Given the description of an element on the screen output the (x, y) to click on. 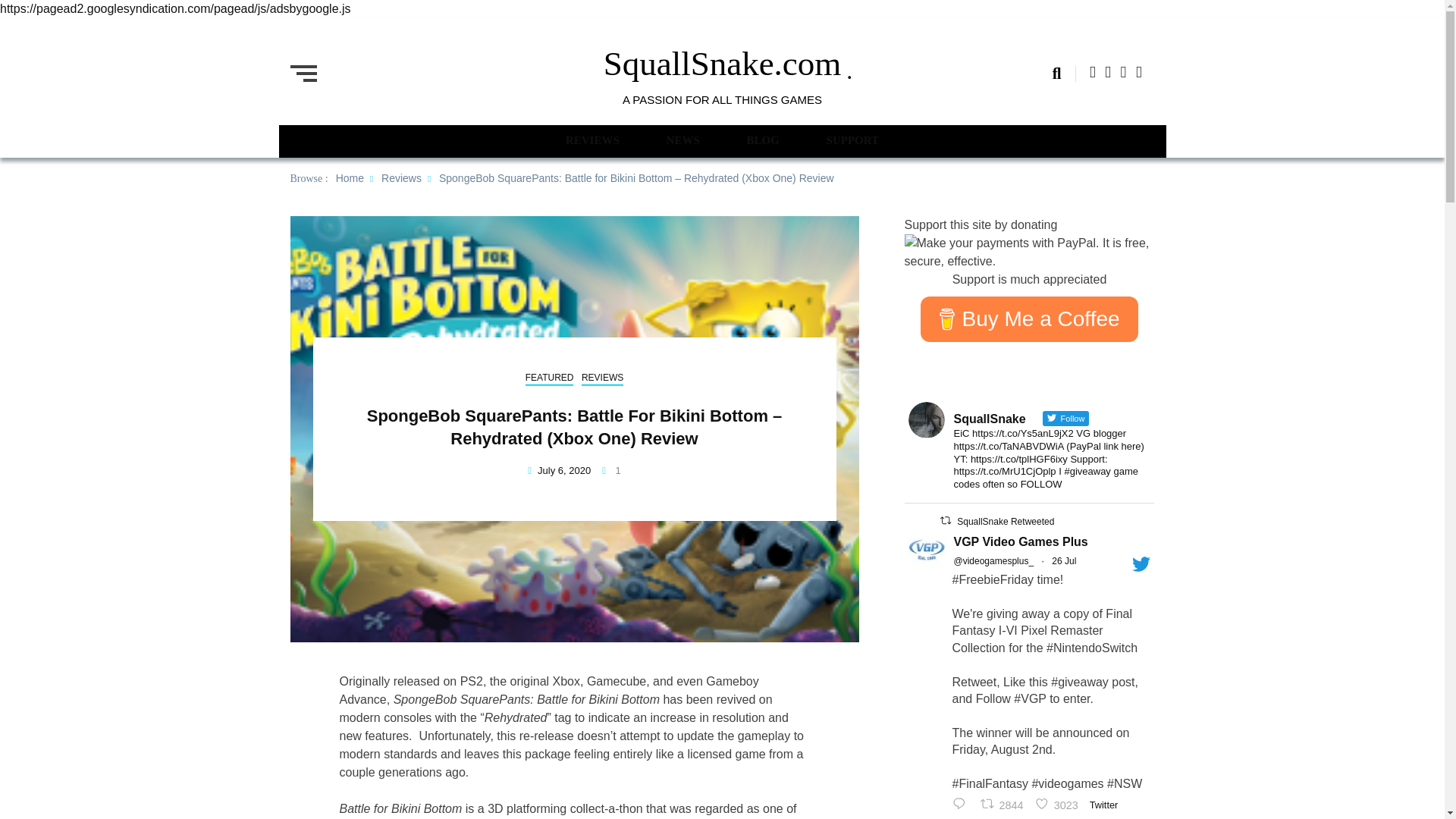
REVIEWS (592, 140)
26 Jul (1063, 561)
SquallSnake.com (722, 63)
Home (350, 177)
BLOG (762, 140)
SUPPORT (1058, 804)
Retweet on Twitter (852, 140)
Twitter 1816914554590511590 (945, 520)
Reply on Twitter 1816914554590511590 (1107, 804)
